Given the description of an element on the screen output the (x, y) to click on. 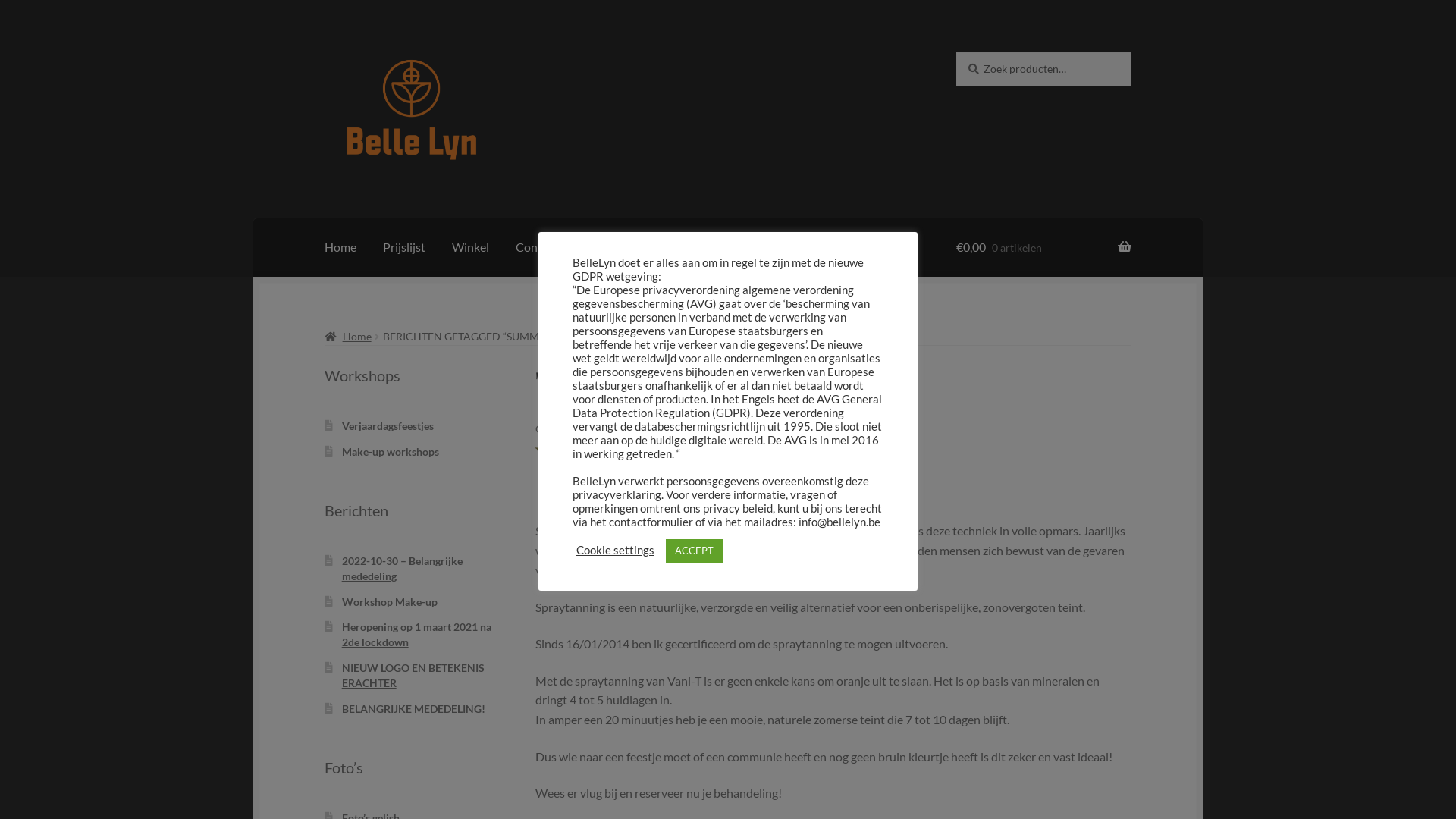
Winkel Element type: text (470, 246)
Zoeken Element type: text (955, 50)
ACCEPT Element type: text (693, 549)
NIEUW LOGO EN BETEKENIS ERACHTER Element type: text (413, 675)
Contact Element type: text (536, 246)
Geef een reactie Element type: text (869, 428)
Home Element type: text (340, 246)
Verjaardagsfeestjes Element type: text (387, 425)
Vani-T Spraytanning Element type: text (682, 457)
BELANGRIJKE MEDEDELING! Element type: text (413, 708)
evelyn79 Element type: text (796, 428)
Make-up workshops Element type: text (390, 451)
Ga door naar navigatie Element type: text (323, 50)
Heropening op 1 maart 2021 na 2de lockdown Element type: text (416, 634)
Workshop Make-up Element type: text (389, 601)
Prijslijst Element type: text (403, 246)
17 FEBRUARI 2014 Element type: text (690, 428)
Cookie settings Element type: text (615, 550)
Home Element type: text (347, 335)
Wie is Belle-Lyn ? Element type: text (629, 246)
